Given the description of an element on the screen output the (x, y) to click on. 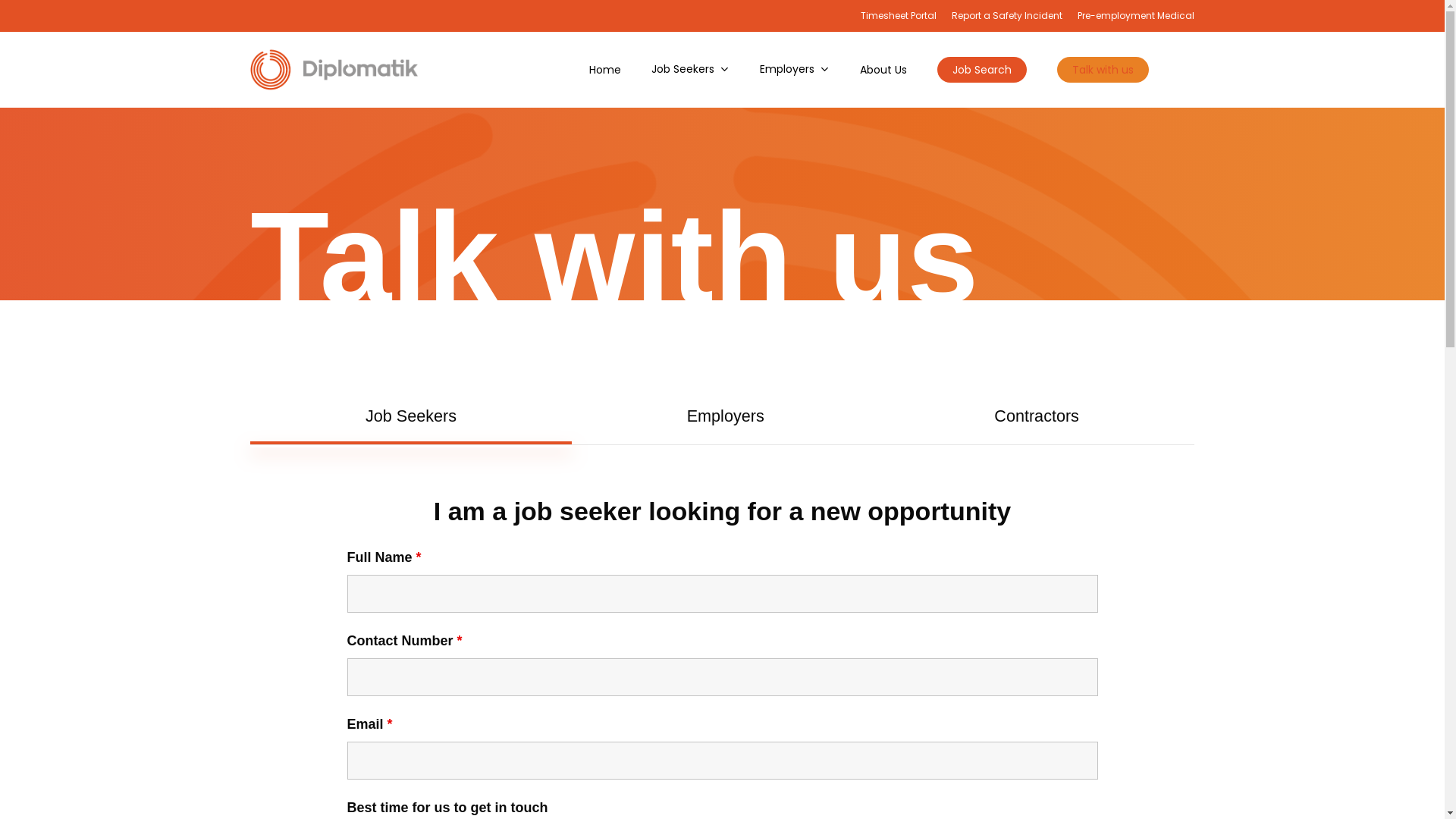
Employers Element type: text (794, 68)
Job Seekers Element type: text (690, 68)
Employers Element type: text (725, 415)
About Us Element type: text (883, 69)
Job Search Element type: text (981, 69)
Contractors Element type: text (1036, 415)
Job Seekers Element type: text (410, 415)
Timesheet Portal Element type: text (898, 15)
Pre-employment Medical Element type: text (1135, 15)
Home Element type: text (605, 69)
Report a Safety Incident Element type: text (1006, 15)
Talk with us Element type: text (1102, 69)
